Given the description of an element on the screen output the (x, y) to click on. 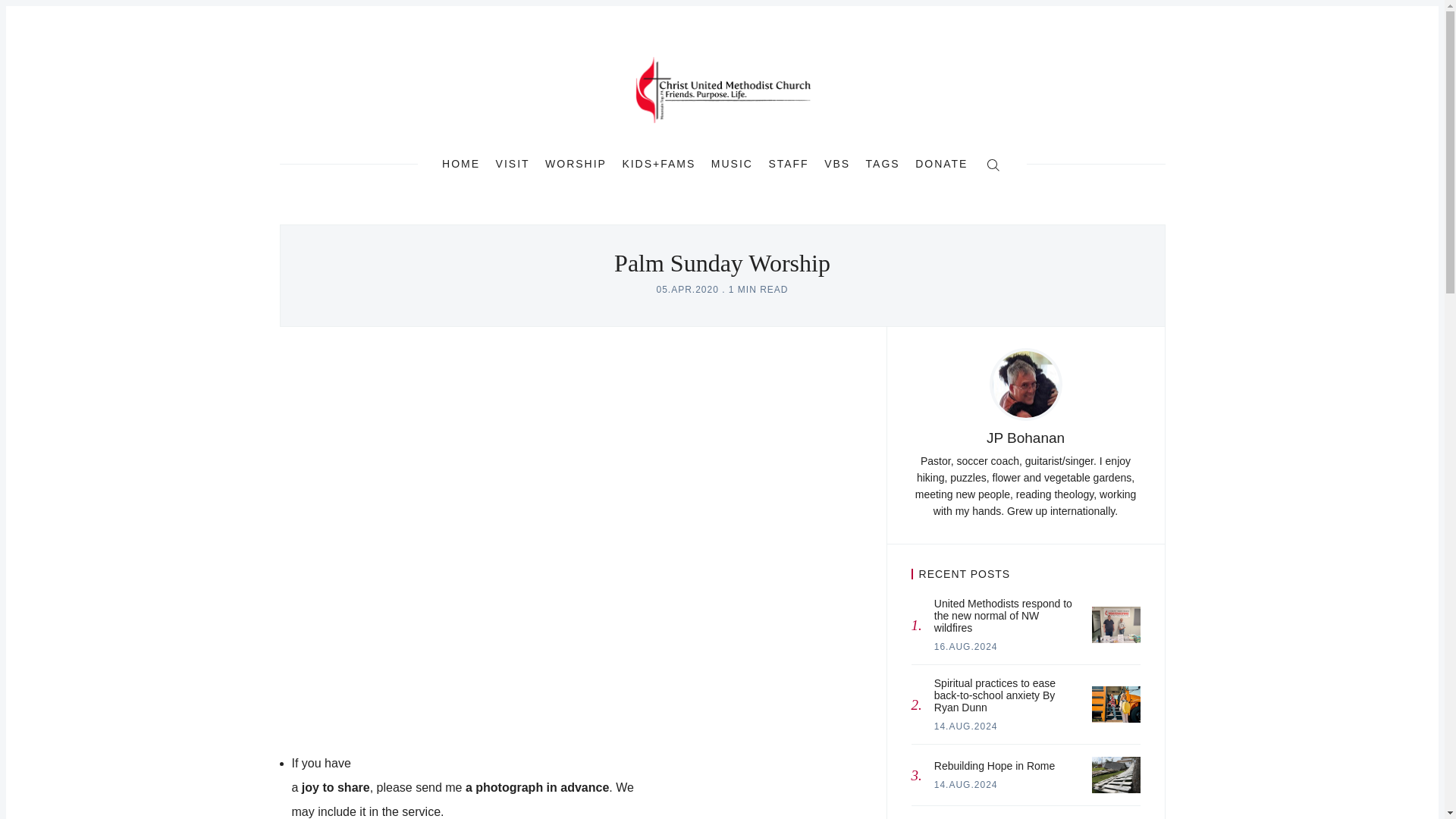
WORSHIP (575, 163)
MUSIC (731, 163)
TAGS (1025, 812)
14 August 2024 (882, 163)
United Methodists respond to the new normal of NW wildfires (965, 726)
VBS (1116, 624)
DONATE (837, 163)
